Given the description of an element on the screen output the (x, y) to click on. 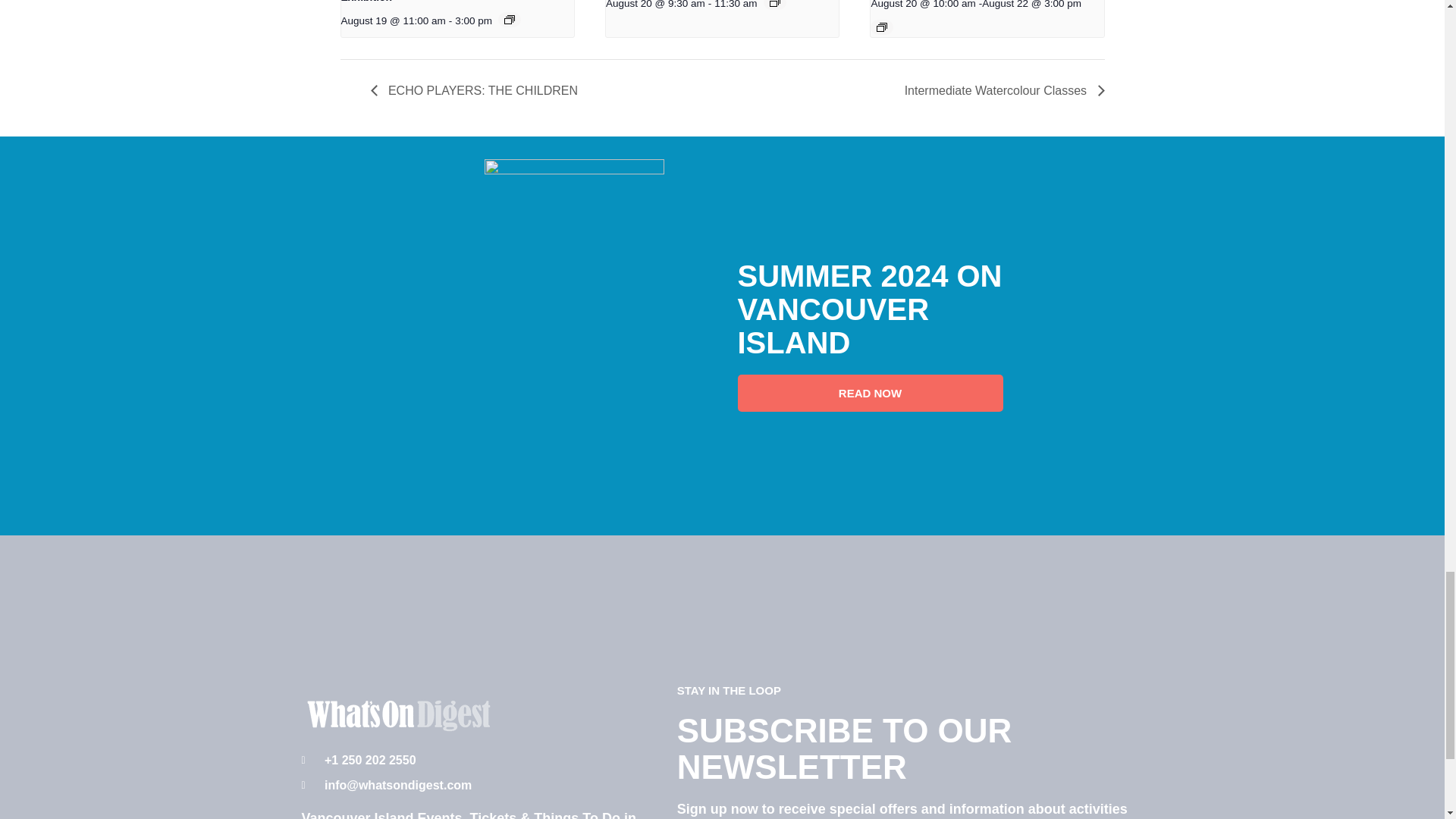
Event Series (775, 3)
Event Series (509, 19)
Event Series (881, 26)
